Given the description of an element on the screen output the (x, y) to click on. 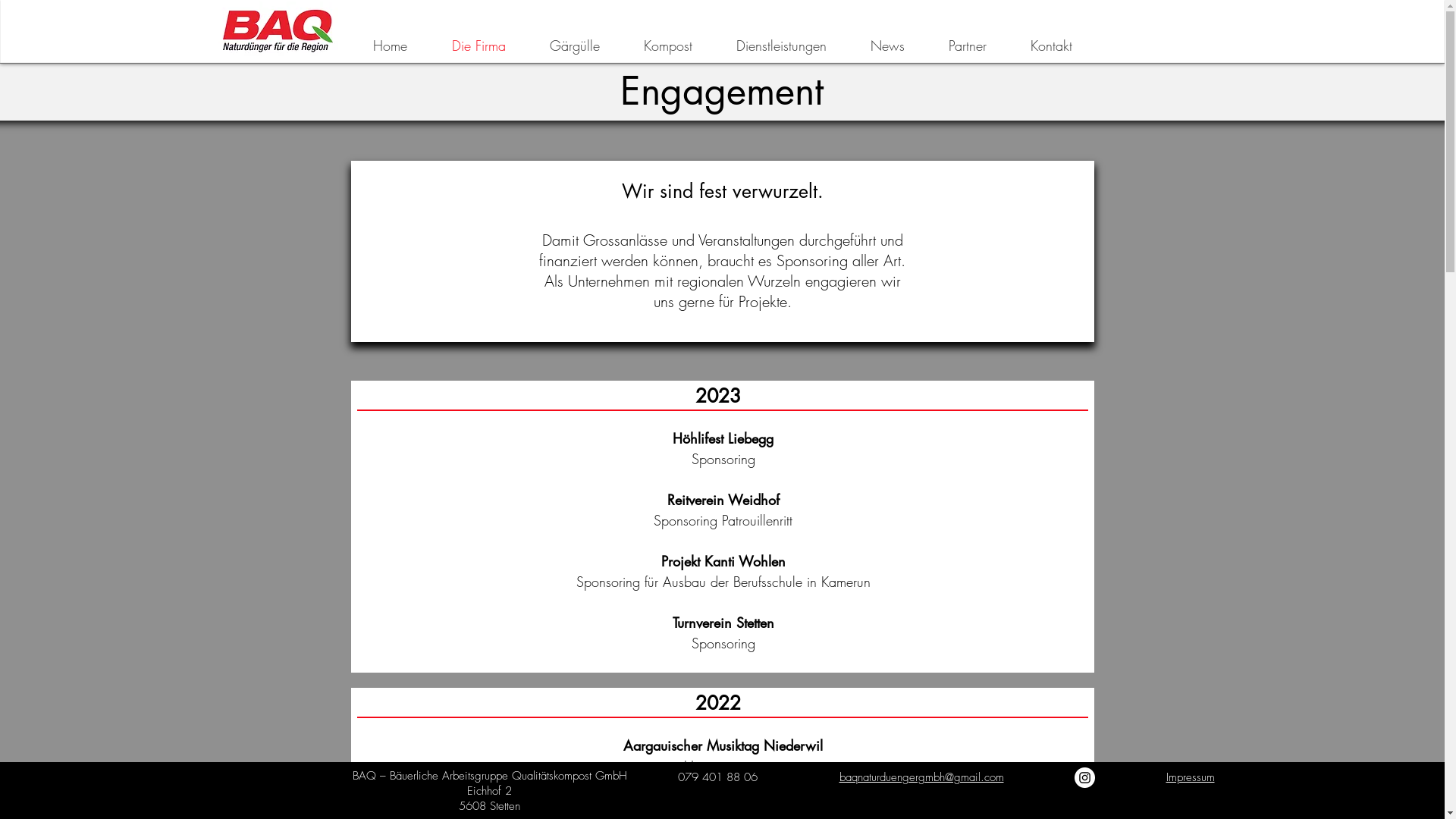
Kompost Element type: text (667, 45)
Home Element type: text (389, 45)
Die Firma Element type: text (478, 45)
baqnaturduengergmbh@gmail.com Element type: text (920, 776)
News Element type: text (886, 45)
Impressum Element type: text (1190, 776)
Partner Element type: text (967, 45)
Kontakt Element type: text (1051, 45)
Dienstleistungen Element type: text (781, 45)
